Given the description of an element on the screen output the (x, y) to click on. 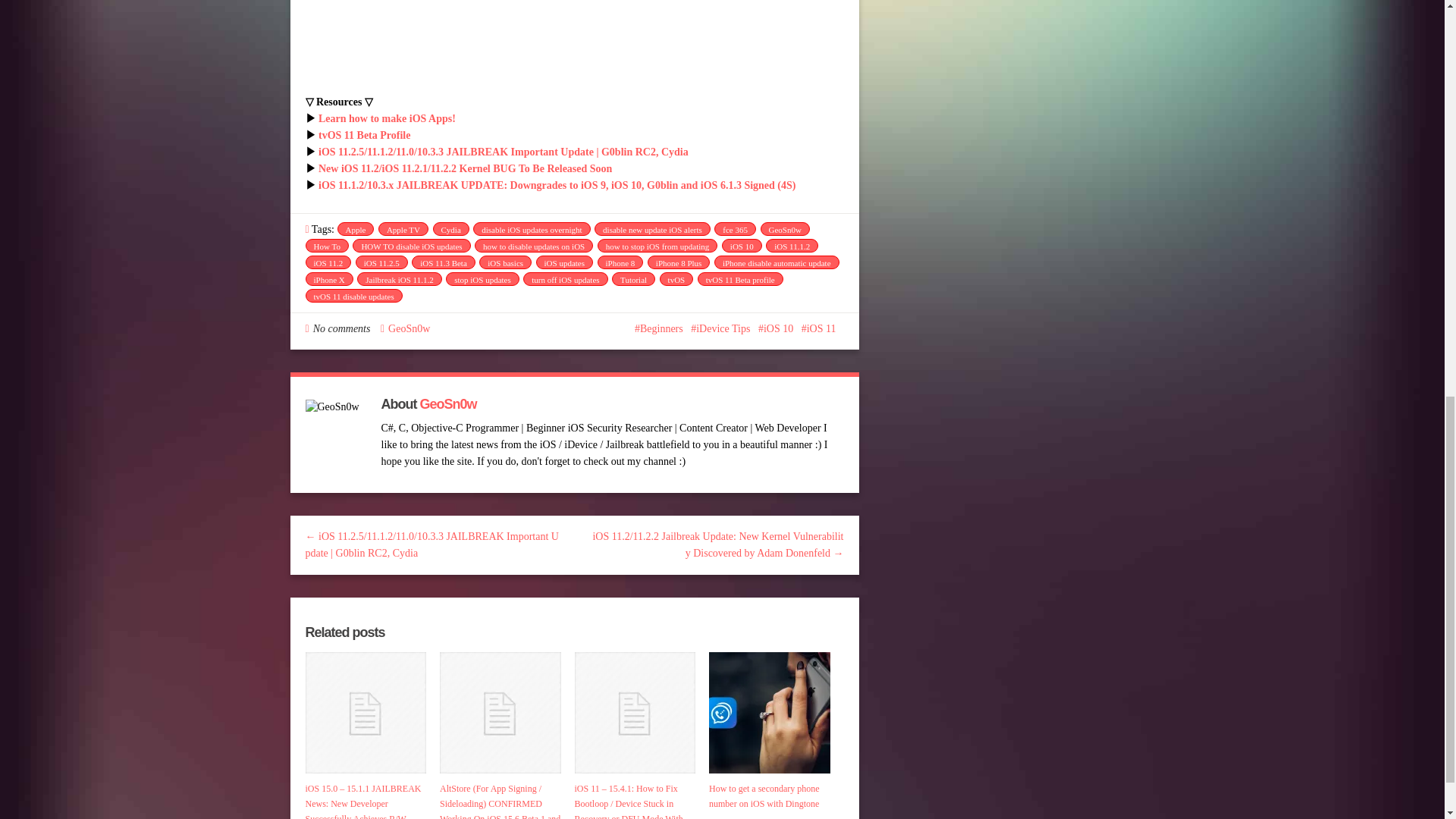
How To (325, 245)
Apple TV (403, 228)
iPhone 8 Plus (678, 262)
iOS 11.1.2 (791, 245)
iPhone disable automatic update (777, 262)
iPhone 8 (619, 262)
iOS 11.3 Beta (444, 262)
iPhone X (328, 278)
HOW TO disable iOS updates (411, 245)
GeoSn0w (784, 228)
